Given the description of an element on the screen output the (x, y) to click on. 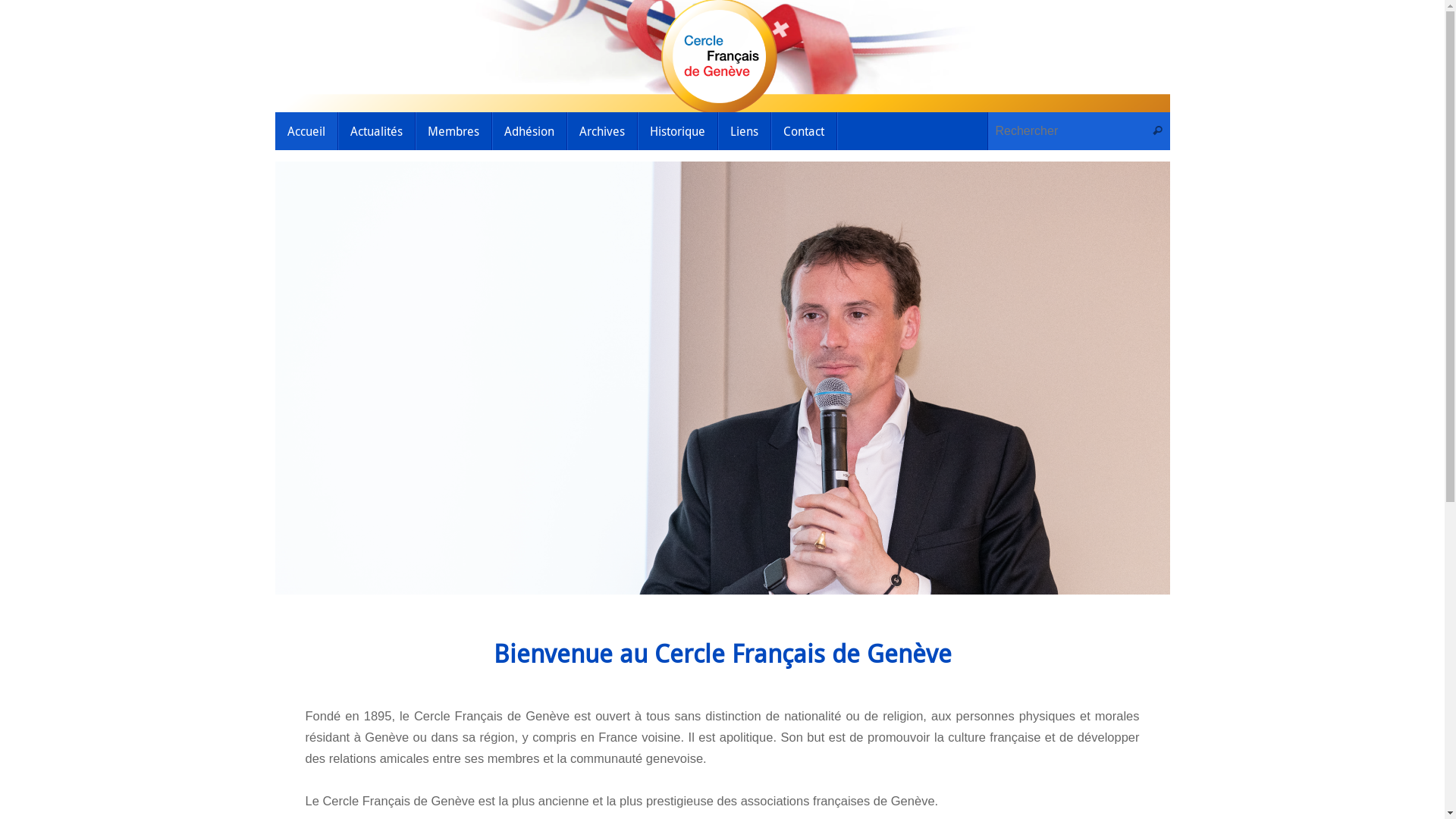
Membres Element type: text (453, 131)
Accueil Element type: text (305, 131)
Liens Element type: text (743, 131)
Contact Element type: text (803, 131)
Historique Element type: text (677, 131)
Rechercher Element type: text (1157, 131)
Passer au contenu Element type: text (274, 135)
Archives Element type: text (602, 131)
